Given the description of an element on the screen output the (x, y) to click on. 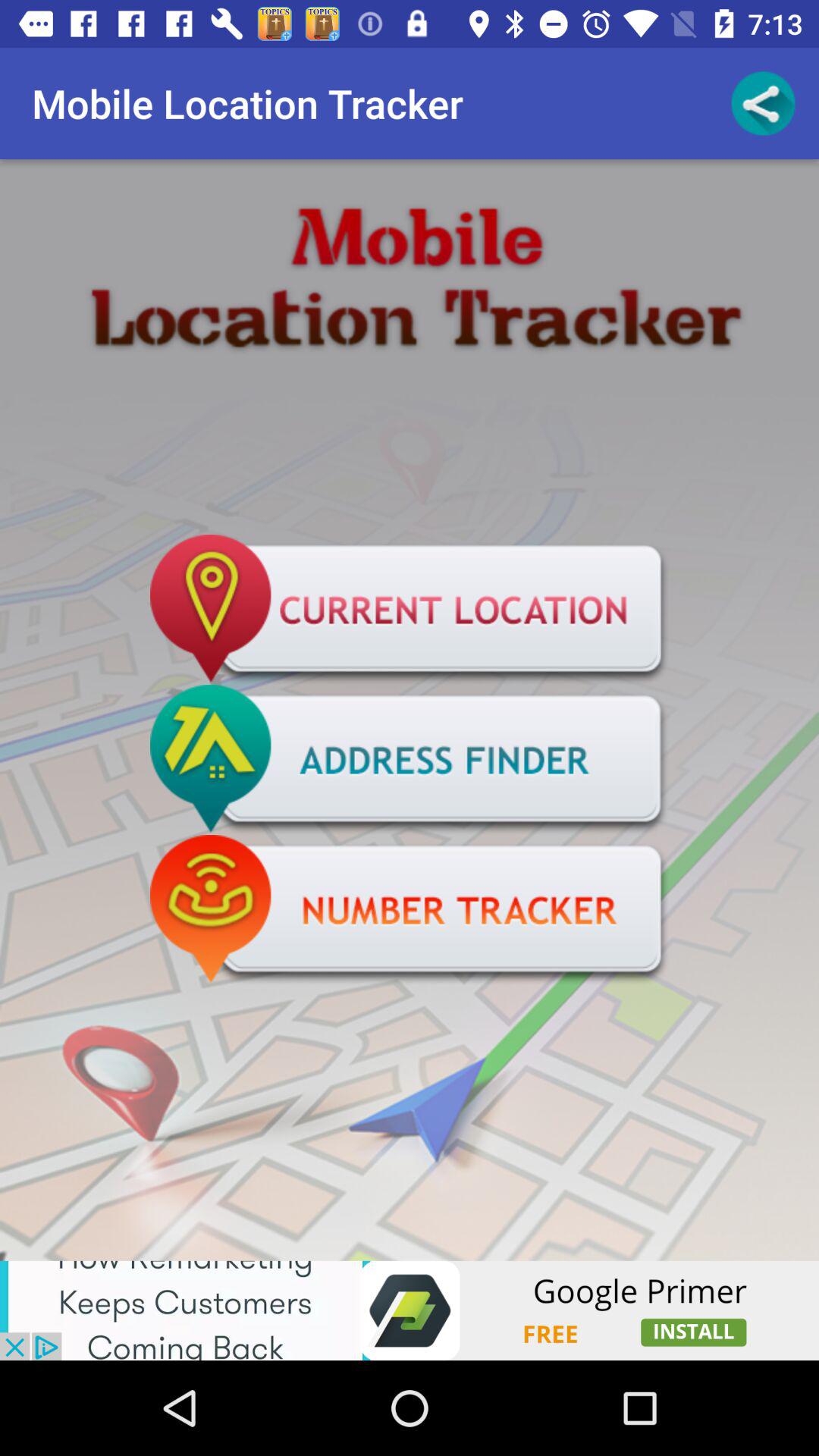
watch advertisement (409, 1310)
